Given the description of an element on the screen output the (x, y) to click on. 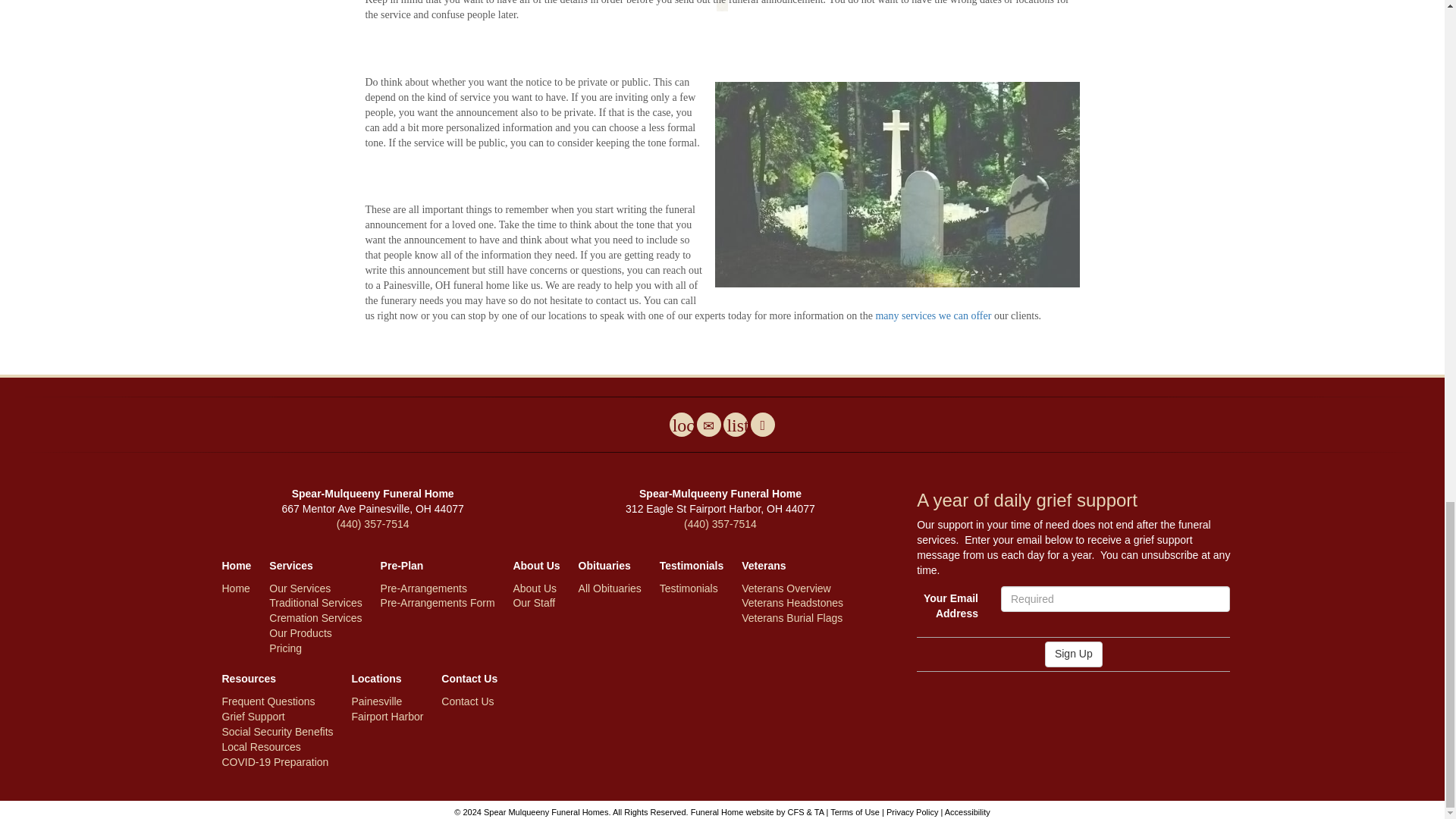
Send Flowers (681, 424)
Blog (735, 424)
Contact Us (708, 424)
